Given the description of an element on the screen output the (x, y) to click on. 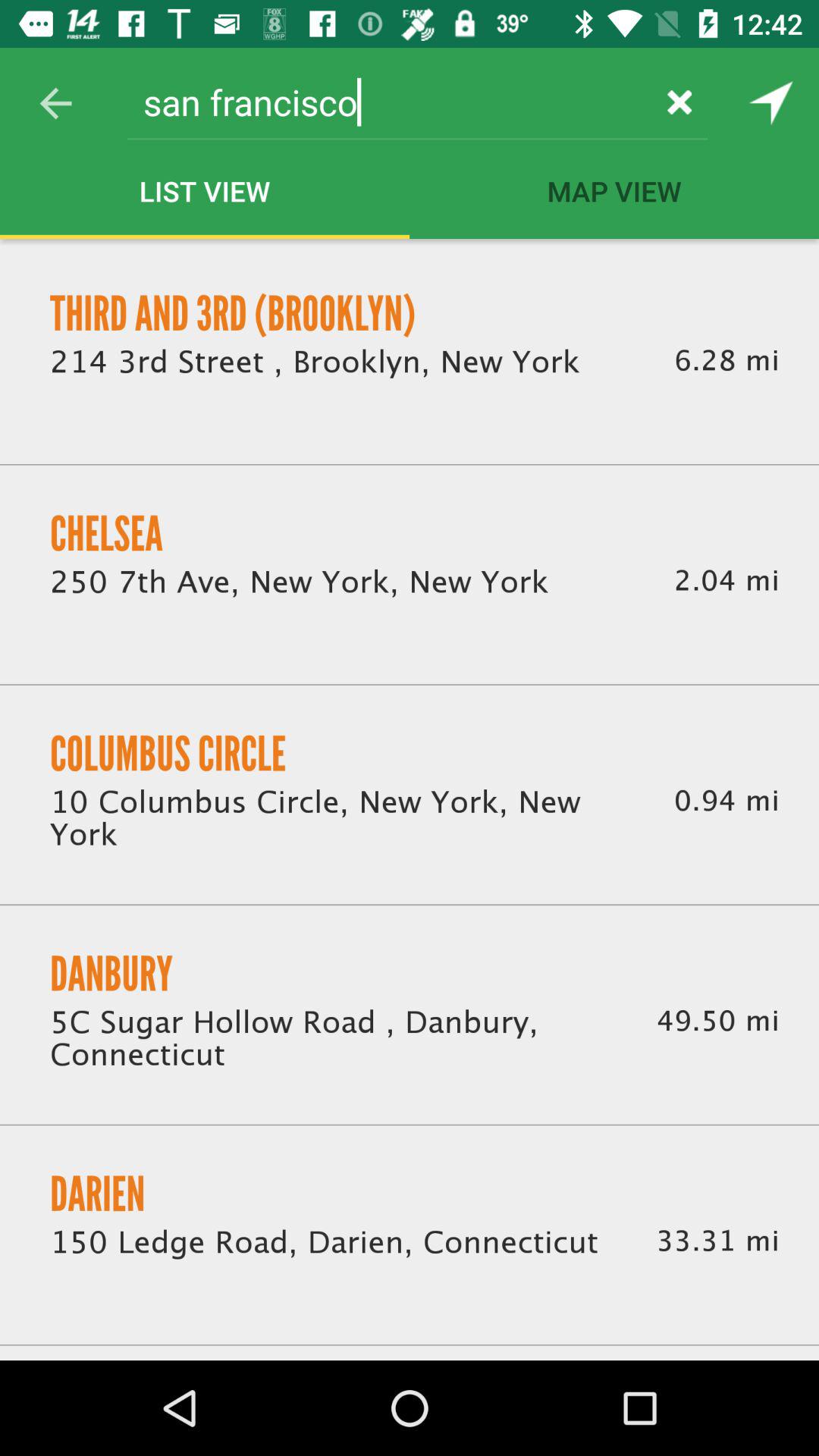
choose icon above the 33.31 mi item (717, 1020)
